Given the description of an element on the screen output the (x, y) to click on. 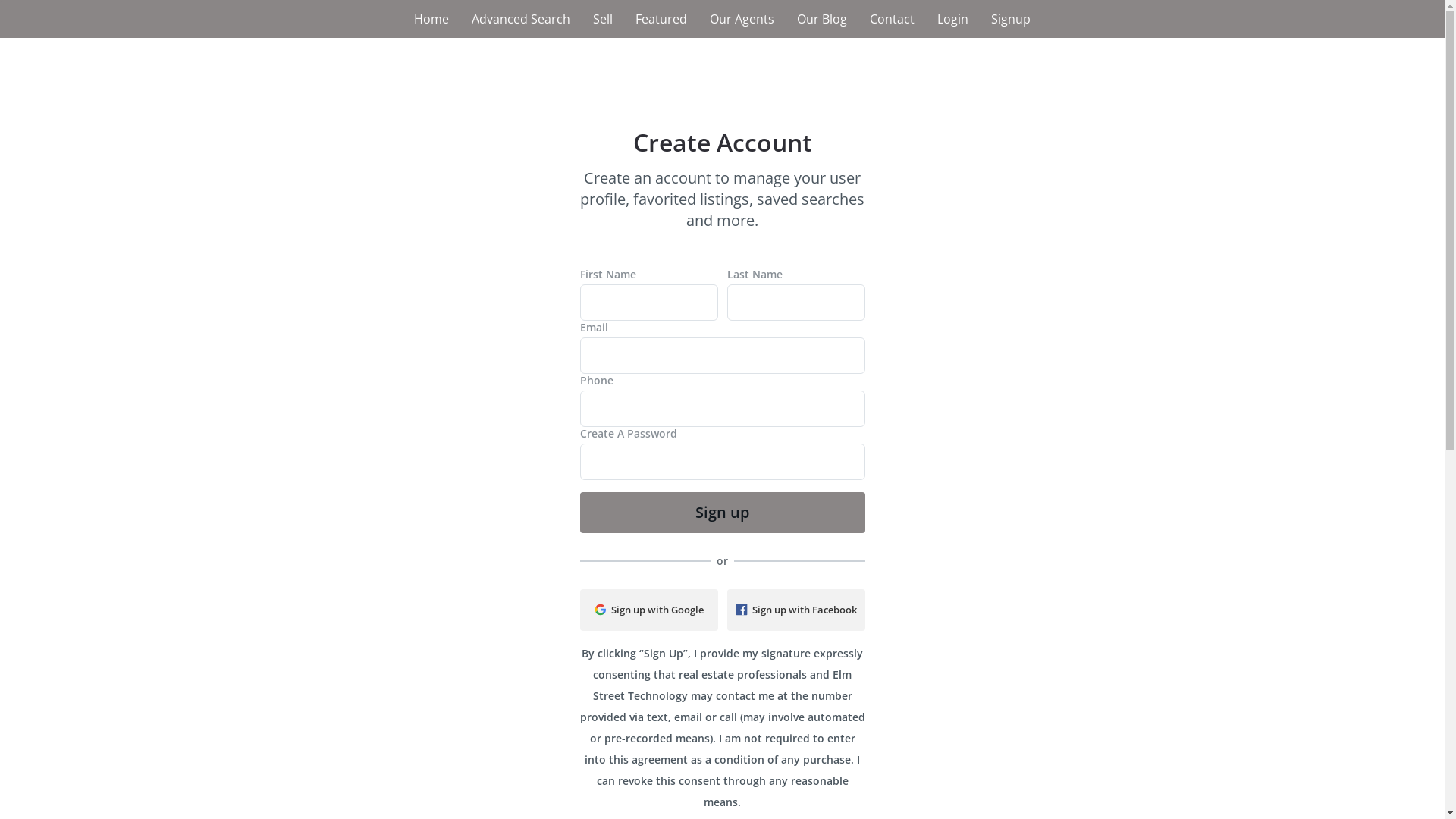
Sell Element type: text (602, 18)
Sign up with Google Element type: text (648, 609)
Our Agents Element type: text (741, 18)
Contact Element type: text (891, 18)
Login Element type: text (952, 18)
Featured Element type: text (661, 18)
Sign up Element type: text (721, 512)
Sign up with Facebook Element type: text (795, 609)
Signup Element type: text (1010, 18)
Home Element type: text (431, 18)
Advanced Search Element type: text (520, 18)
Our Blog Element type: text (821, 18)
